Given the description of an element on the screen output the (x, y) to click on. 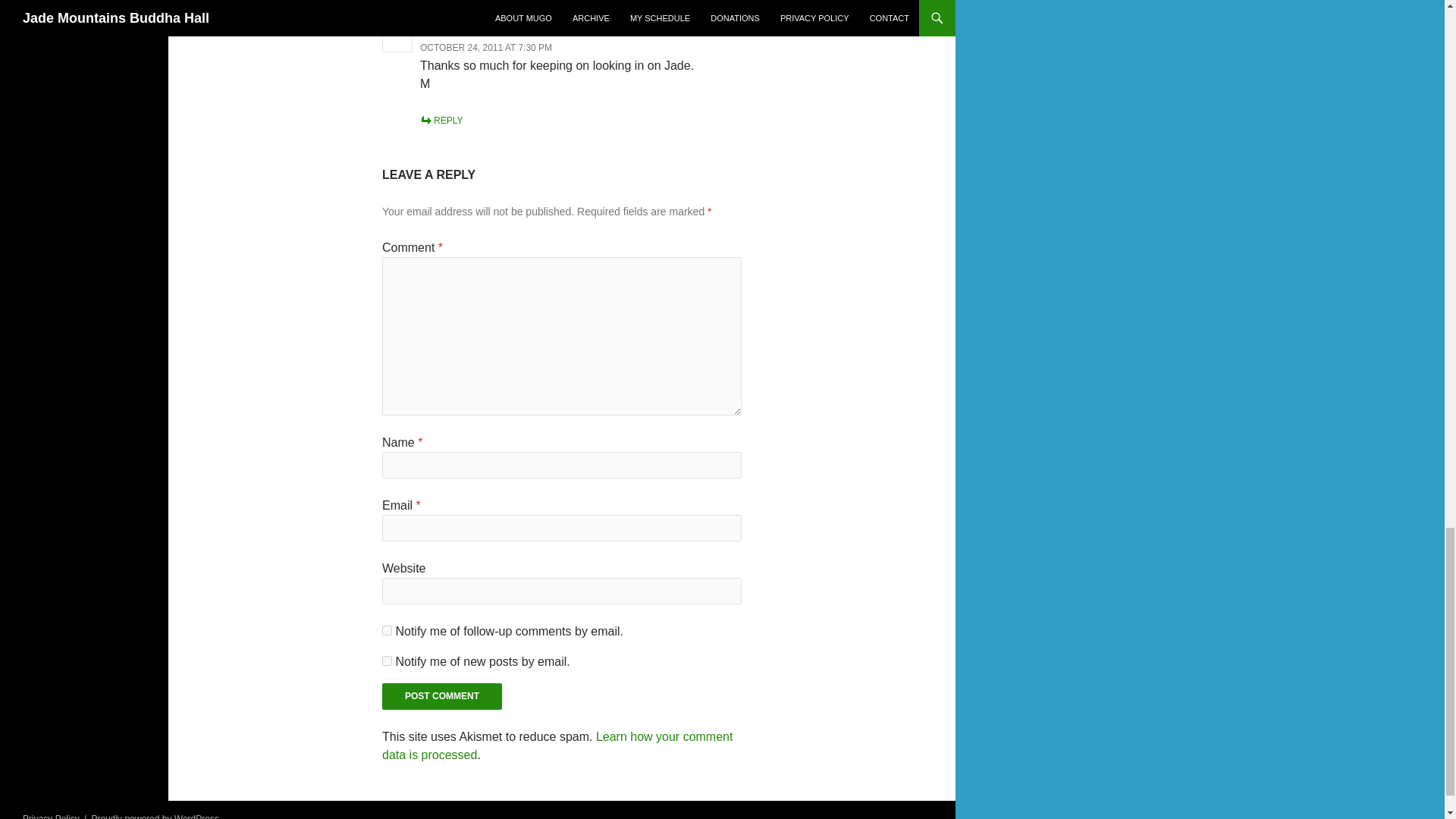
Post Comment (441, 696)
subscribe (386, 630)
Post Comment (441, 696)
Learn how your comment data is processed (556, 745)
REPLY (441, 120)
subscribe (386, 660)
OCTOBER 24, 2011 AT 7:30 PM (485, 47)
